Given the description of an element on the screen output the (x, y) to click on. 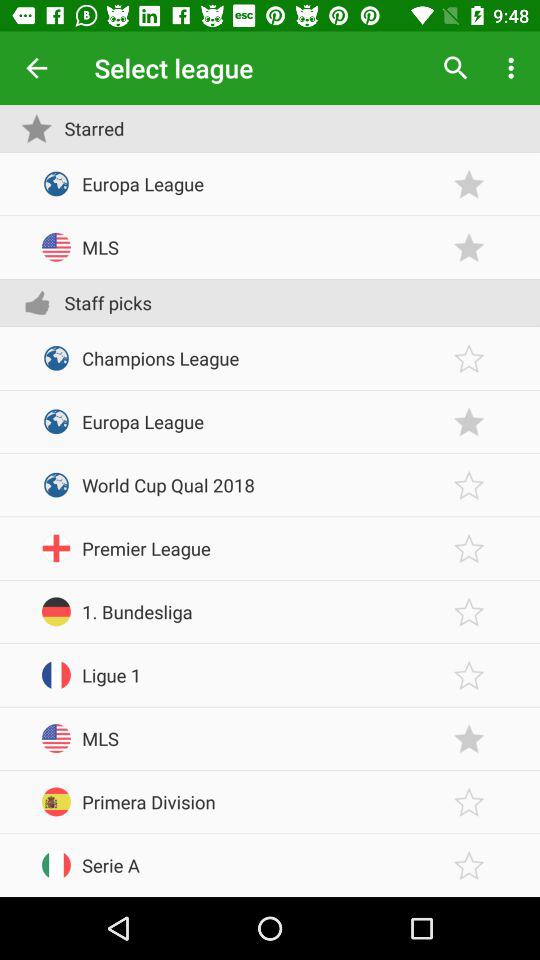
star the item (469, 183)
